Given the description of an element on the screen output the (x, y) to click on. 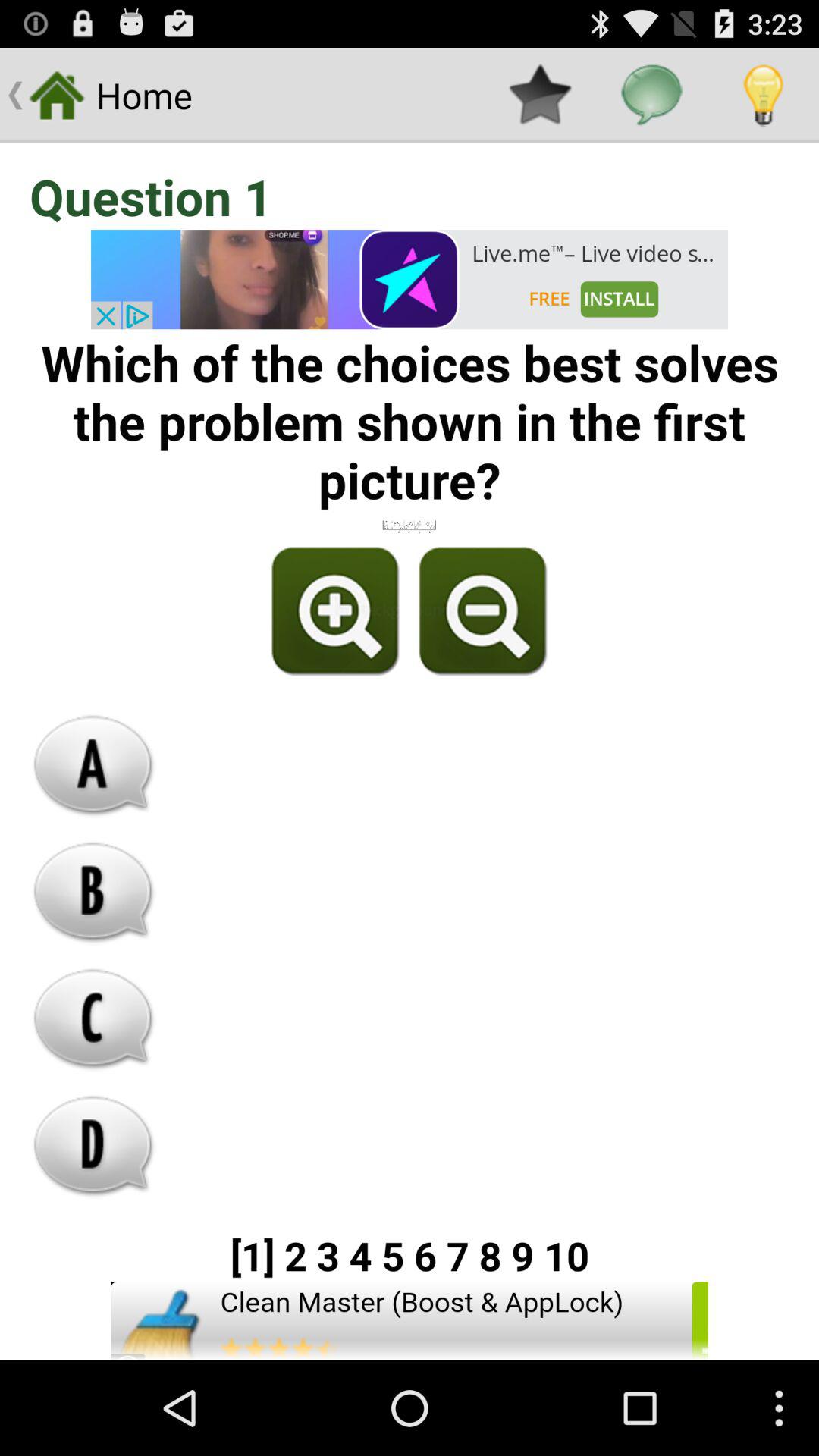
install app (409, 1320)
